Given the description of an element on the screen output the (x, y) to click on. 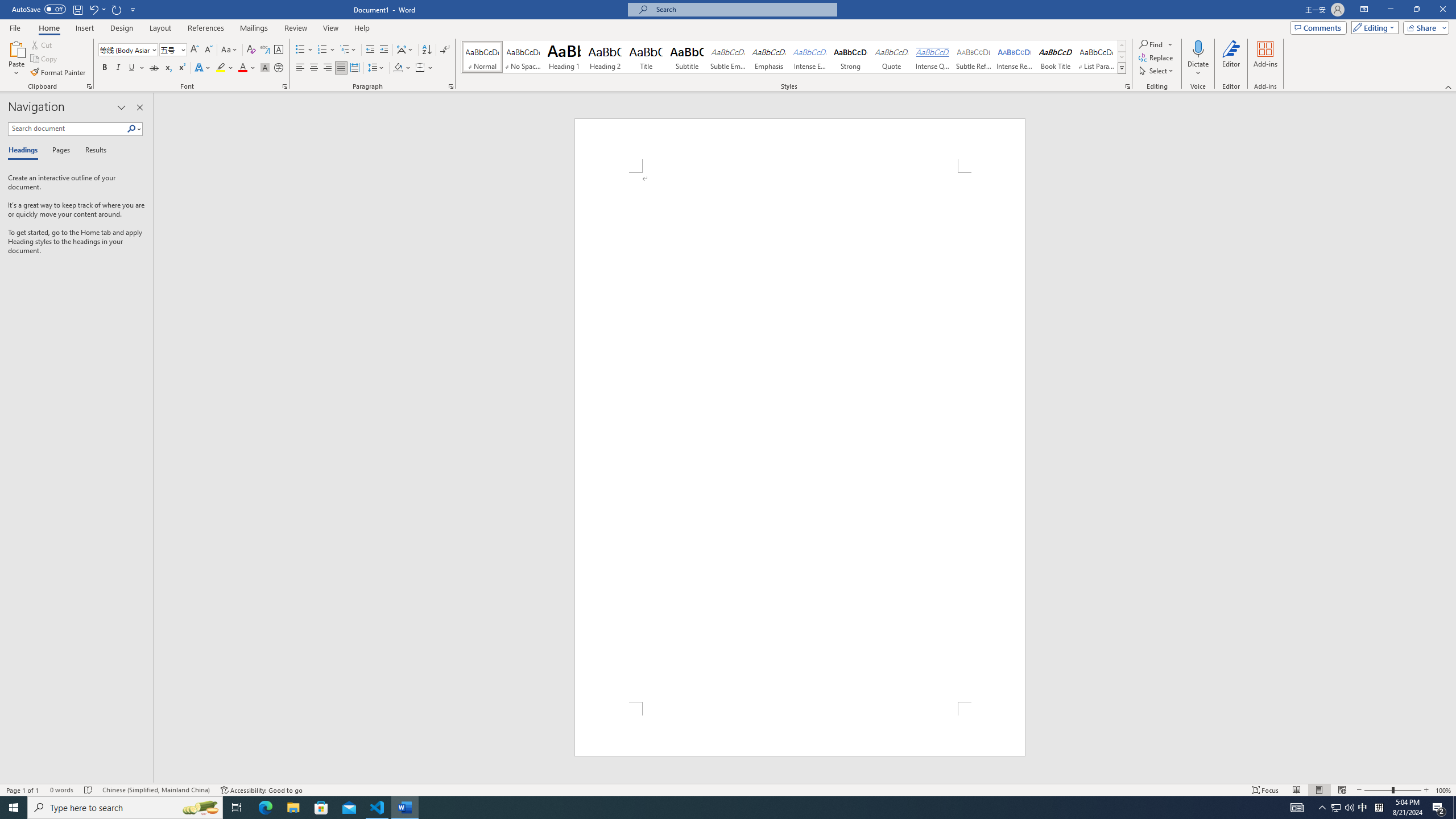
Page Number Page 1 of 1 (22, 790)
Accessibility Checker Accessibility: Good to go (261, 790)
